Given the description of an element on the screen output the (x, y) to click on. 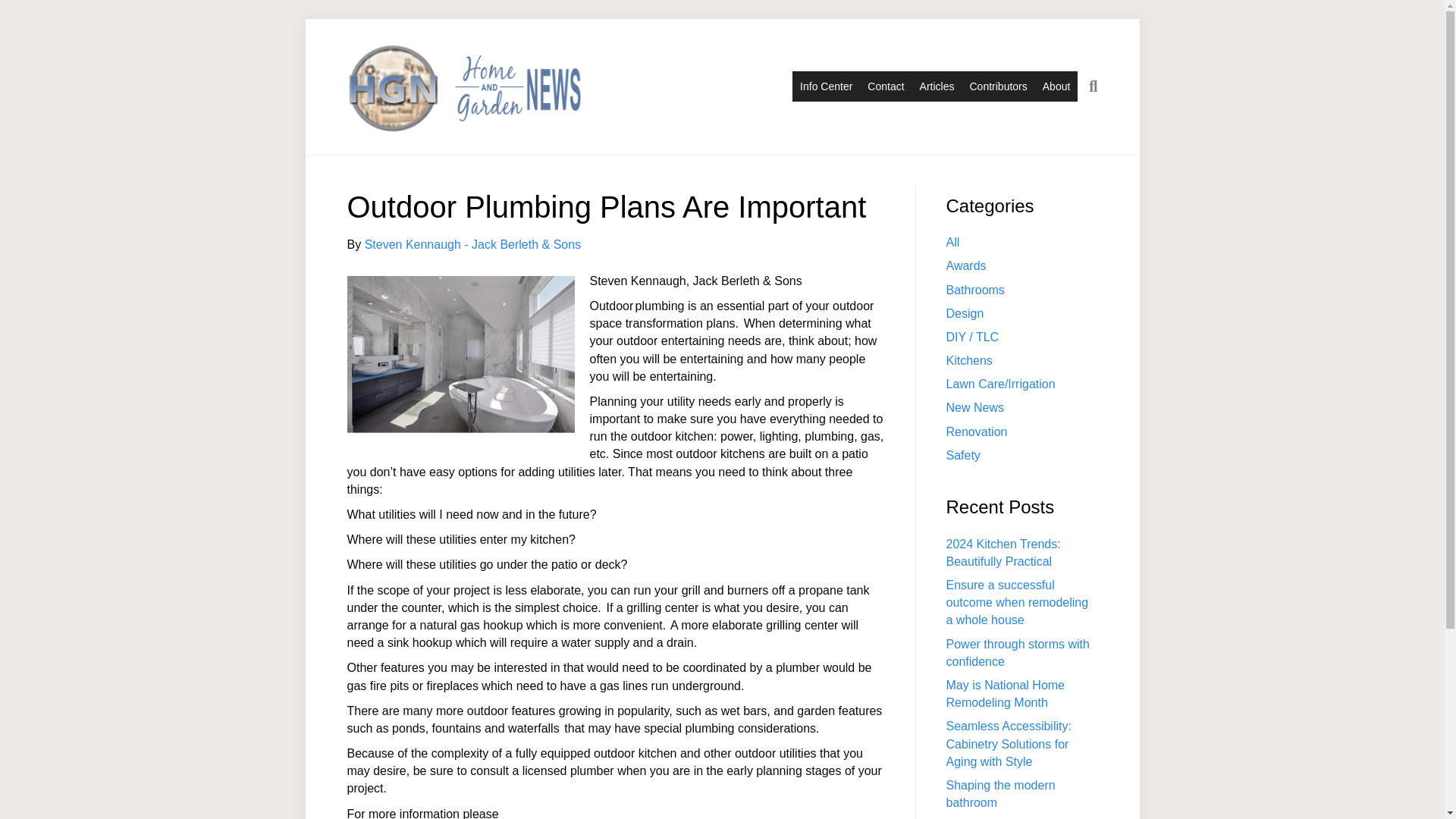
Kitchens (969, 359)
Shaping the modern bathroom (1000, 793)
All (952, 241)
New News (975, 407)
2024 Kitchen Trends: Beautifully Practical (1003, 552)
Design (965, 313)
Articles (937, 86)
About (1056, 86)
May is National Home Remodeling Month (1005, 693)
Contributors (996, 86)
Info Center (826, 86)
Bathrooms (975, 289)
Power through storms with confidence (1017, 653)
Renovation (976, 431)
